Given the description of an element on the screen output the (x, y) to click on. 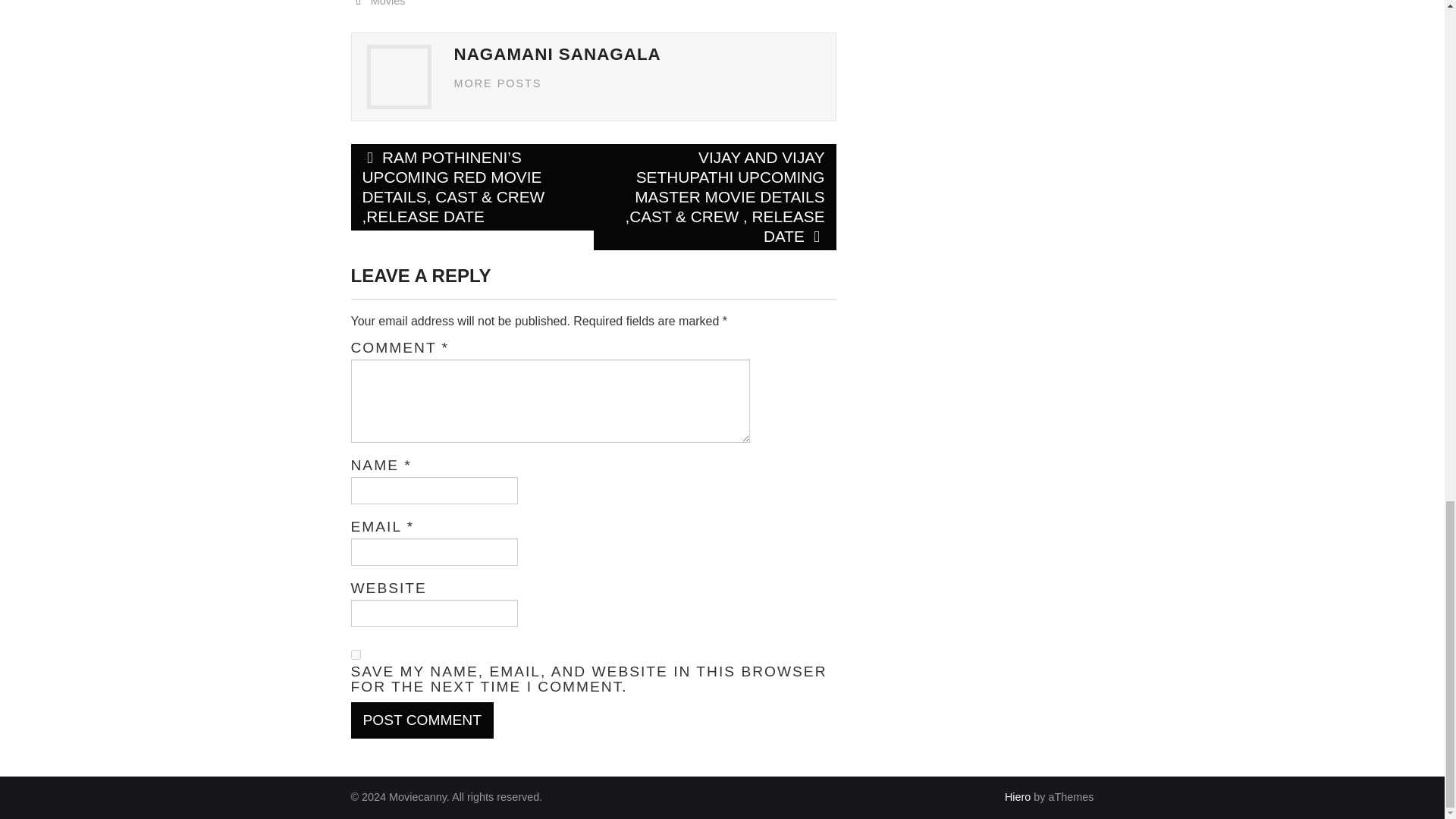
Post Comment (421, 719)
Post Comment (421, 719)
MORE POSTS (496, 82)
yes (354, 655)
Movies (388, 3)
